Given the description of an element on the screen output the (x, y) to click on. 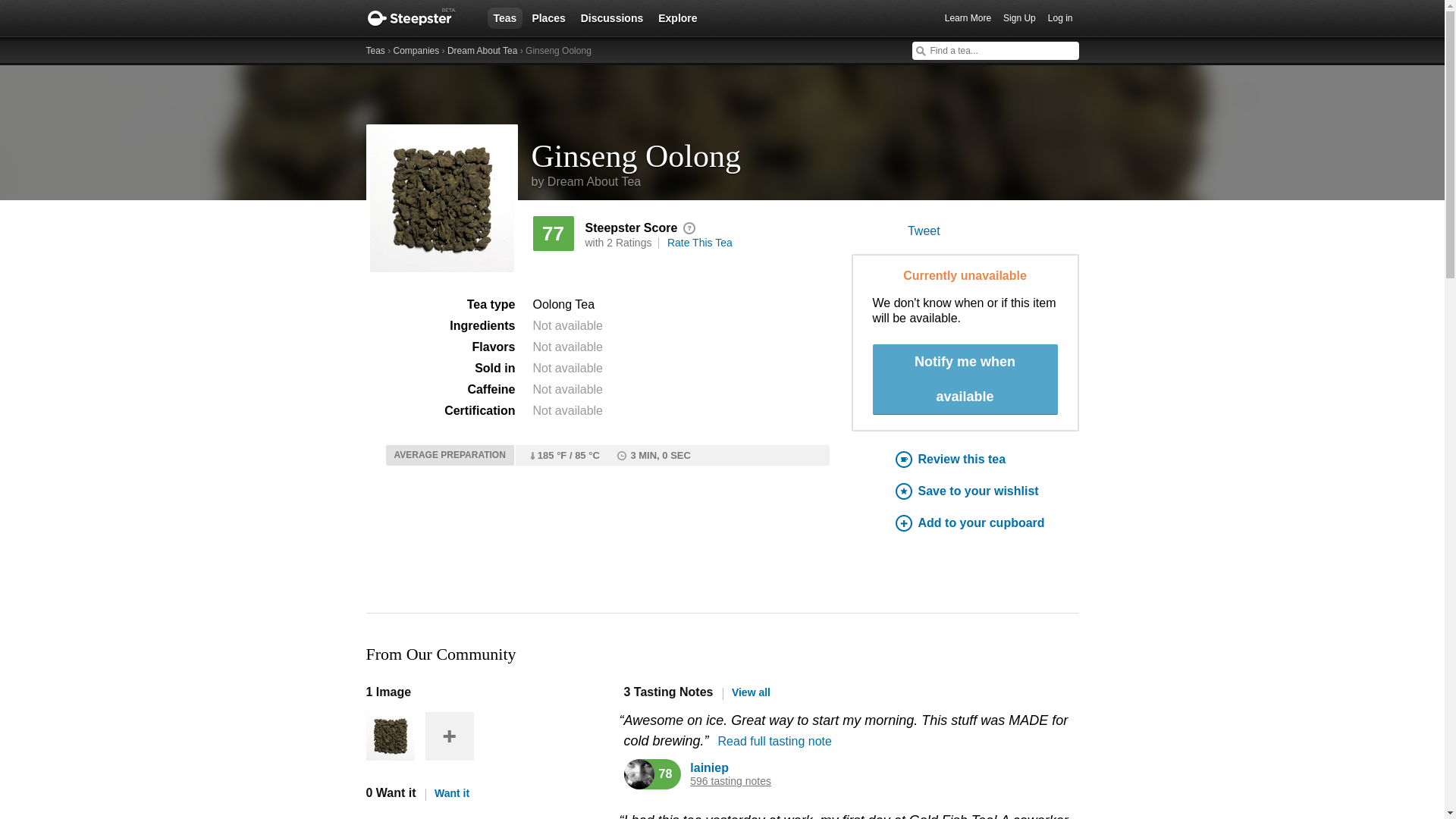
Notify me when available (964, 378)
Want it (446, 793)
Tweet (923, 230)
Dream About Tea (482, 50)
596 tasting notes (730, 781)
Review this tea (986, 458)
Discussions (612, 17)
Oolong Tea (563, 304)
Add to your cupboard (986, 522)
View all (746, 692)
Save to your wishlist (986, 490)
Sign Up (1019, 18)
Explore (677, 17)
Teas (374, 50)
Teas (504, 17)
